Given the description of an element on the screen output the (x, y) to click on. 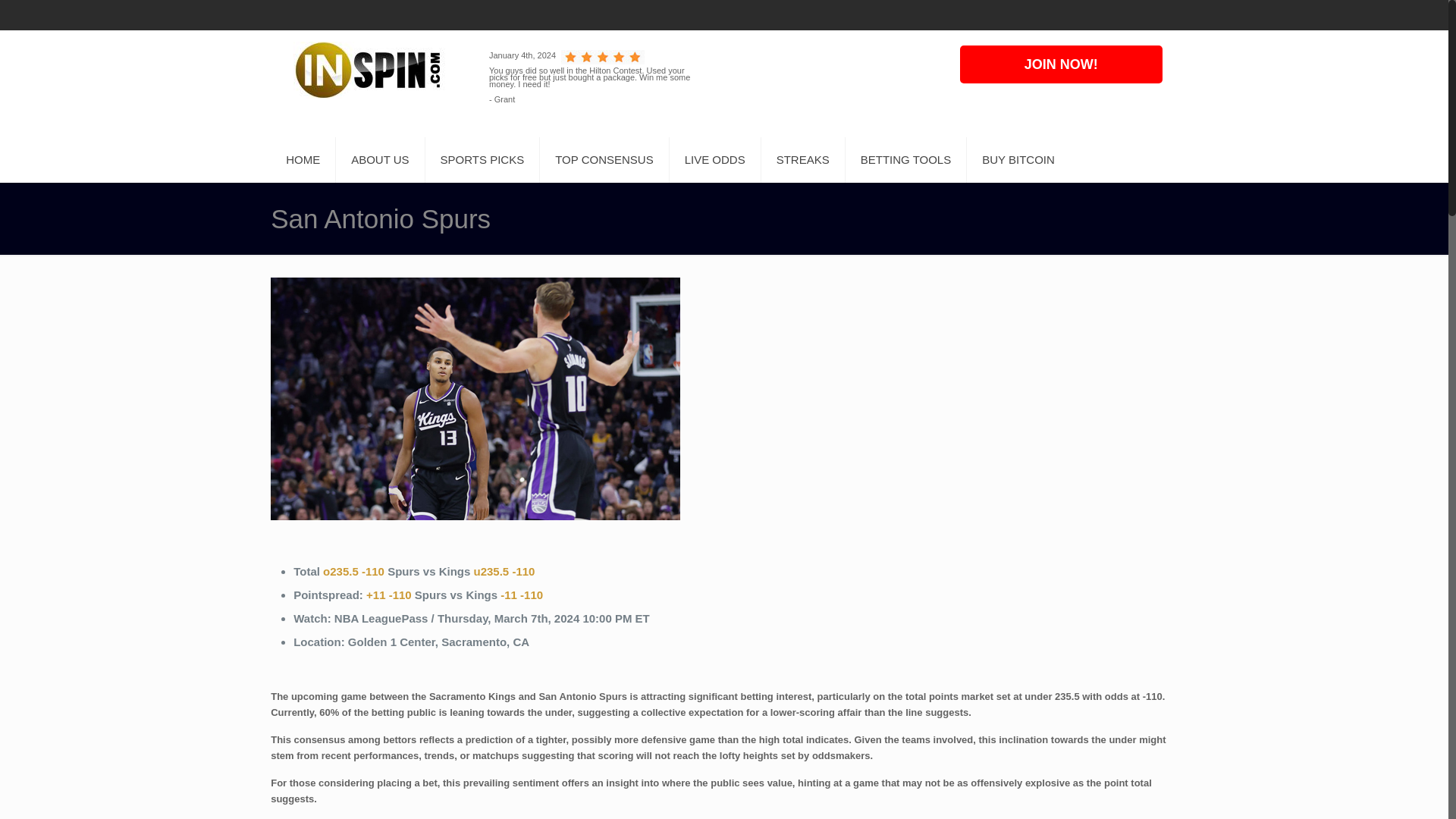
SPORTS PICKS (482, 159)
JOIN NOW! (1060, 64)
BETTING TOOLS (905, 159)
Insider Picks Sports Information (369, 69)
TOP CONSENSUS (604, 159)
STREAKS (803, 159)
HOME (303, 159)
o235.5 -110 (353, 571)
-11 -110 (521, 594)
Top Consensus (521, 594)
ABOUT US (380, 159)
BUY BITCOIN (1018, 159)
LIVE ODDS (715, 159)
Top Consensus (389, 594)
Insider Picks Sports Information (369, 69)
